Given the description of an element on the screen output the (x, y) to click on. 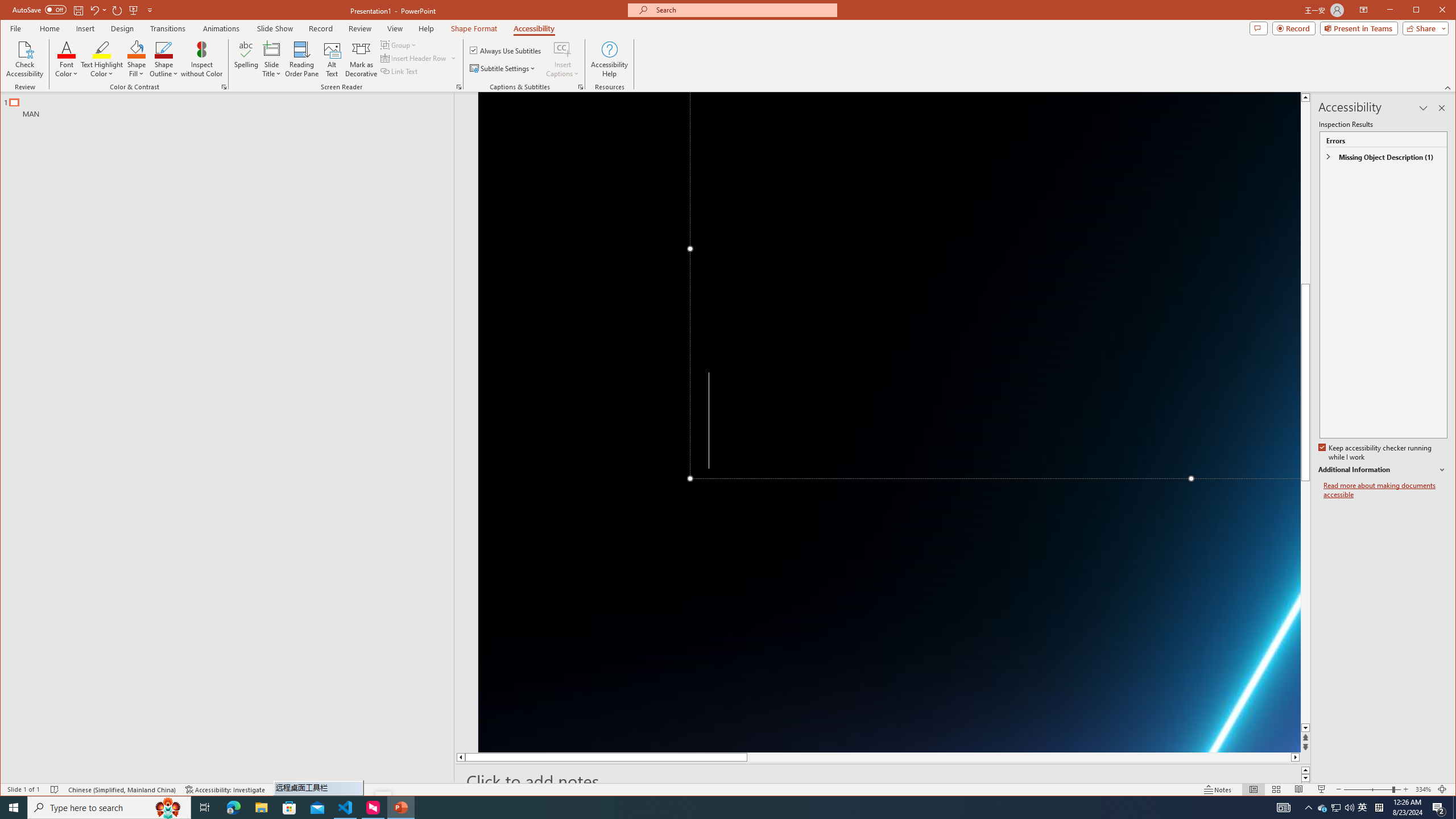
Shape Outline Blue, Accent 1 (163, 48)
Inspect without Color (201, 59)
Mark as Decorative (360, 59)
Screen Reader (458, 86)
Color & Contrast (223, 86)
